Given the description of an element on the screen output the (x, y) to click on. 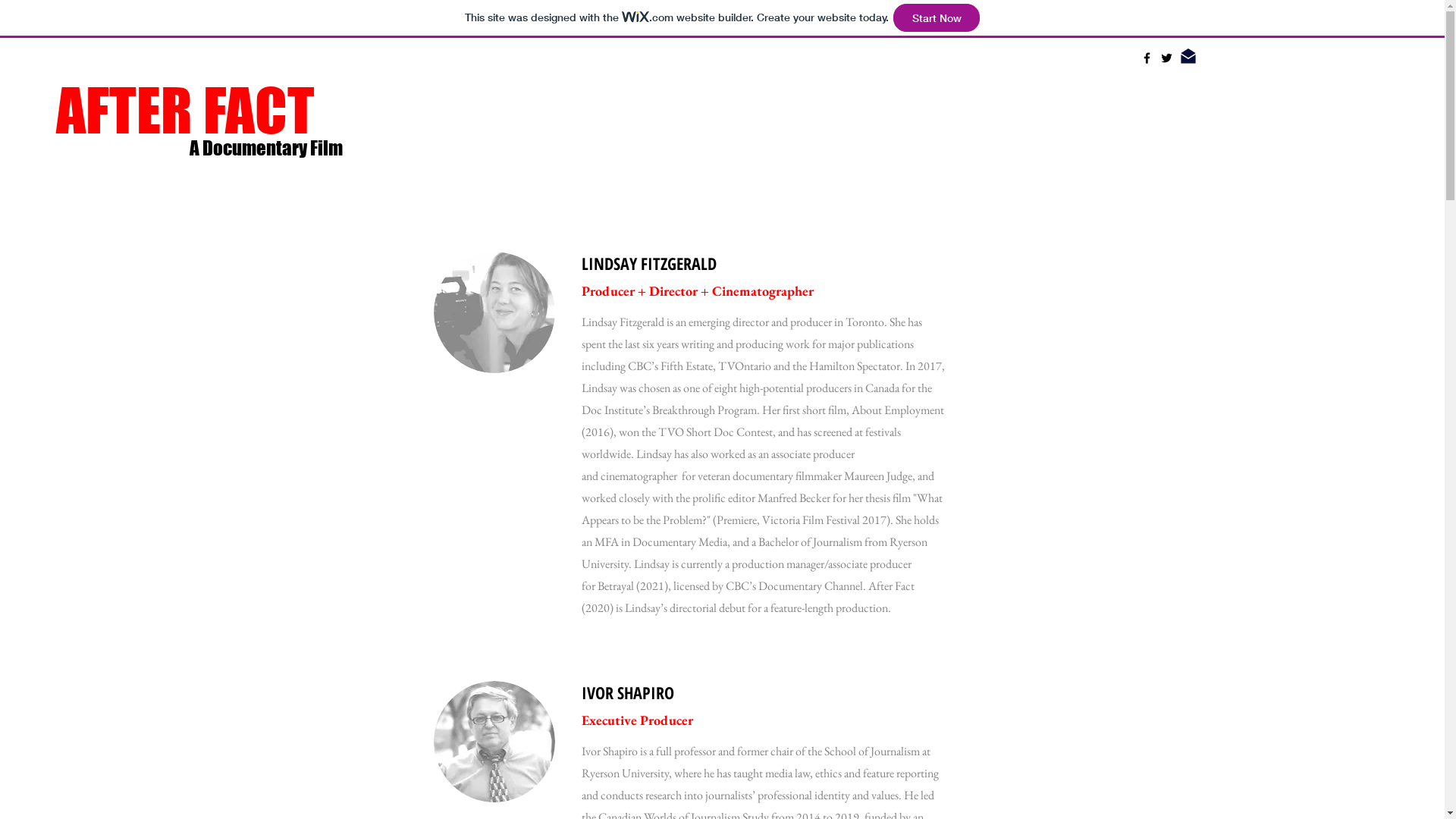
Ivor Shapiro Element type: text (608, 751)
AFTER FACT Element type: text (198, 110)
Lindsay Fitzgerald  Element type: text (622, 321)
